Given the description of an element on the screen output the (x, y) to click on. 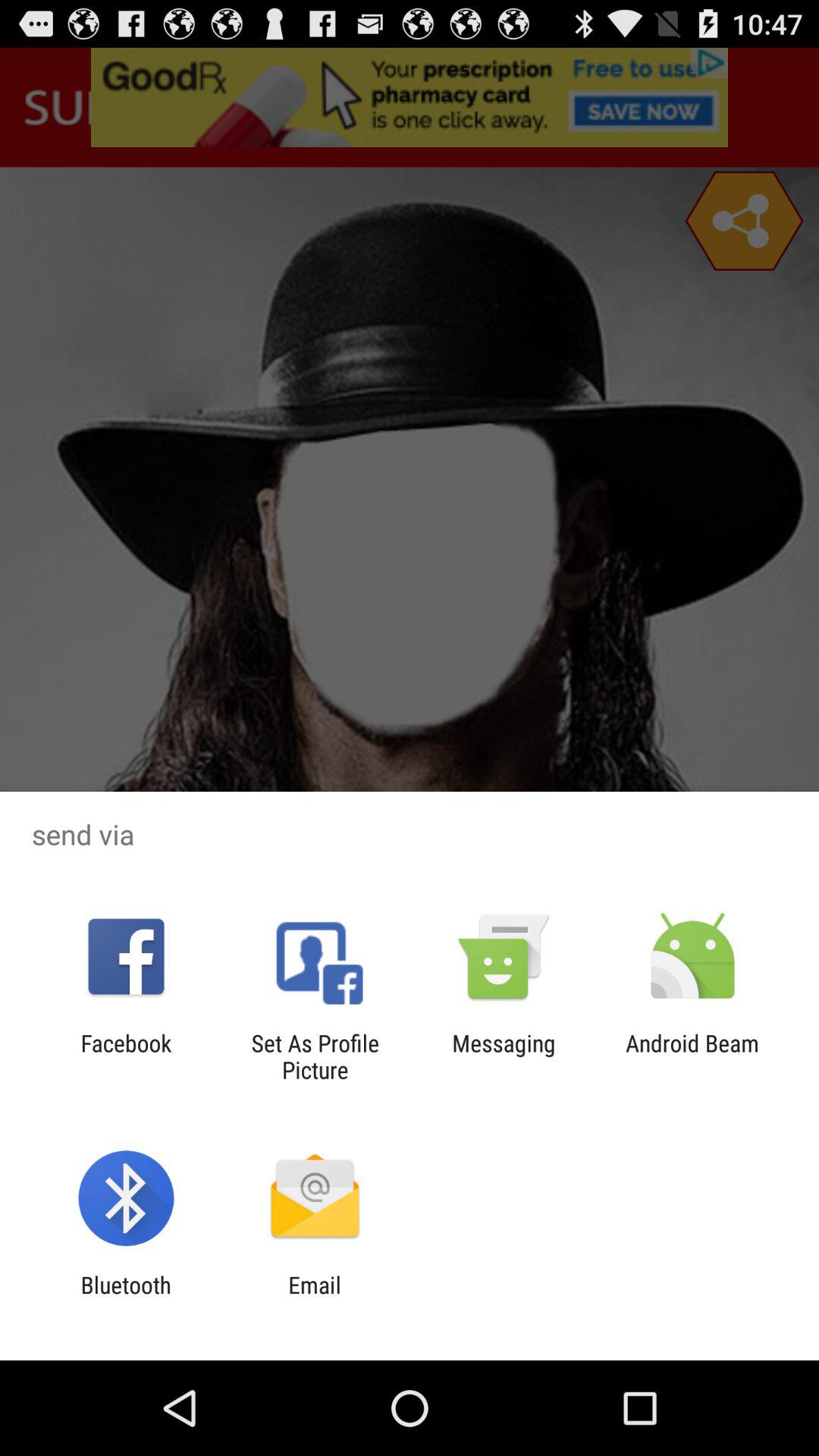
press set as profile icon (314, 1056)
